Given the description of an element on the screen output the (x, y) to click on. 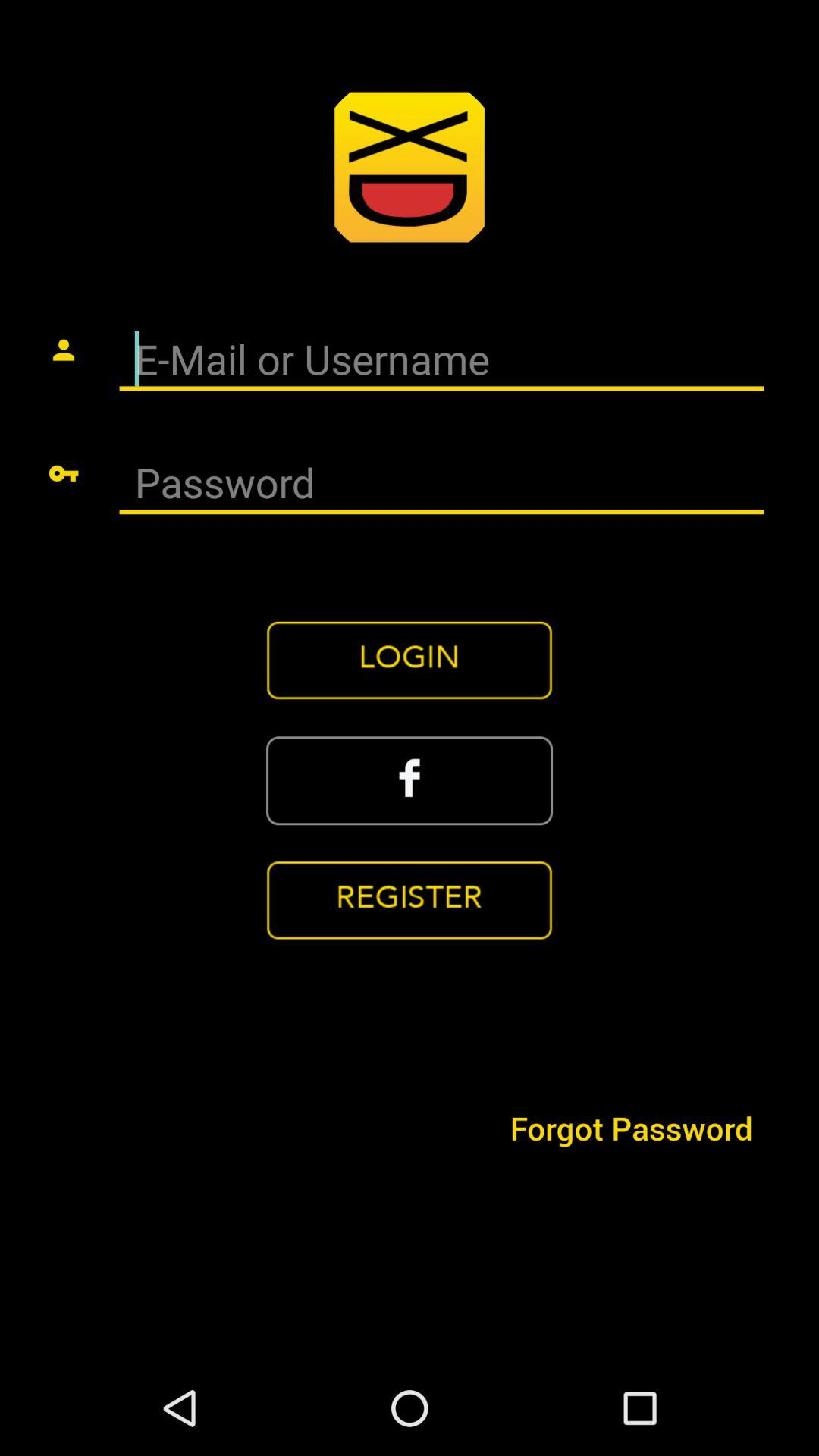
open password search bar (441, 484)
